Given the description of an element on the screen output the (x, y) to click on. 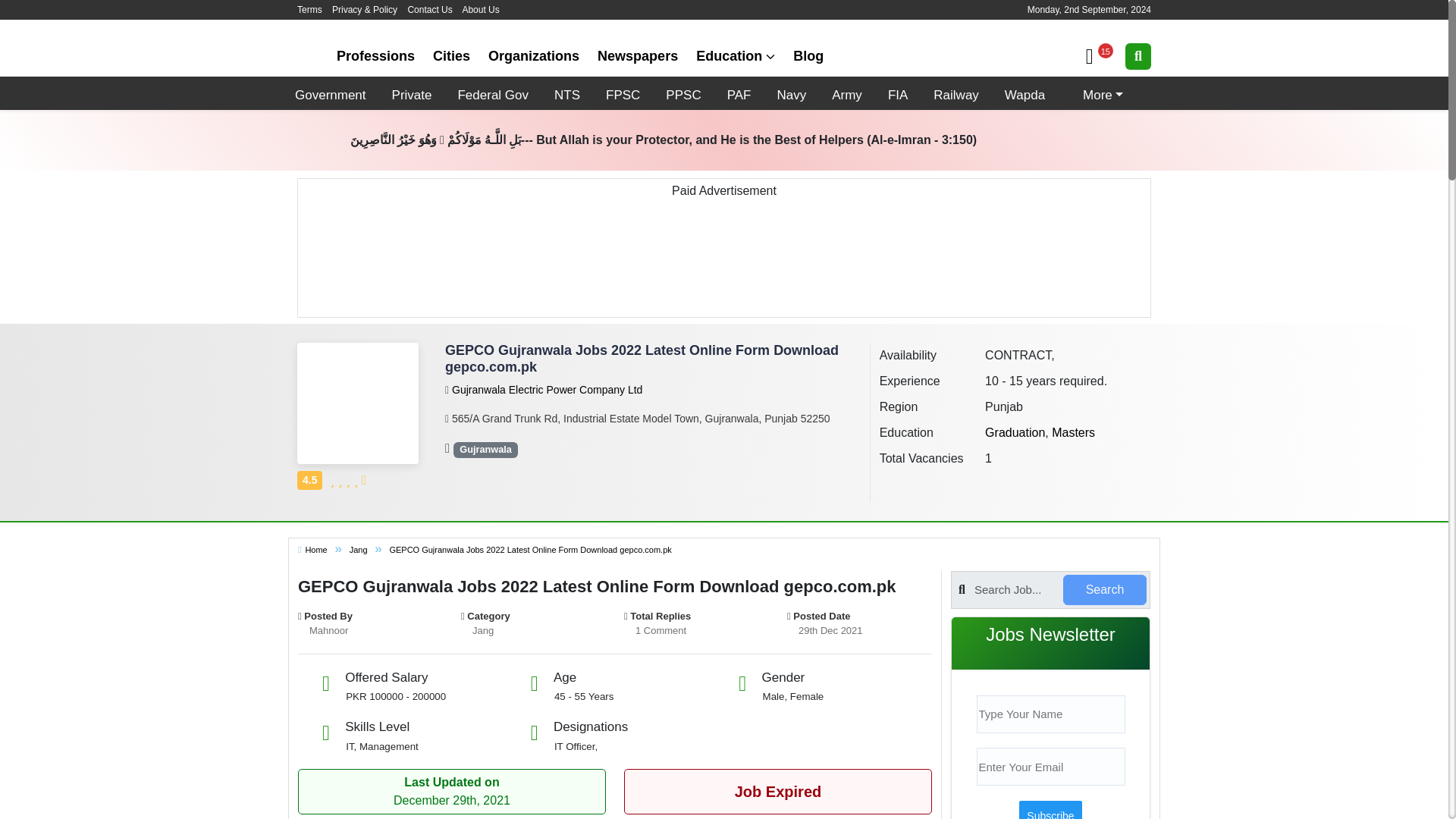
National Testing Service Jobs (566, 92)
Pakistan Railway Jobs (955, 92)
Cities (451, 56)
Federal Investigation Agency Jobs (897, 92)
Contact Us (429, 9)
Professions (375, 56)
Federal Public Service Commission Jobs (622, 92)
Organizations (533, 56)
About Us (480, 9)
Terms (309, 9)
